Given the description of an element on the screen output the (x, y) to click on. 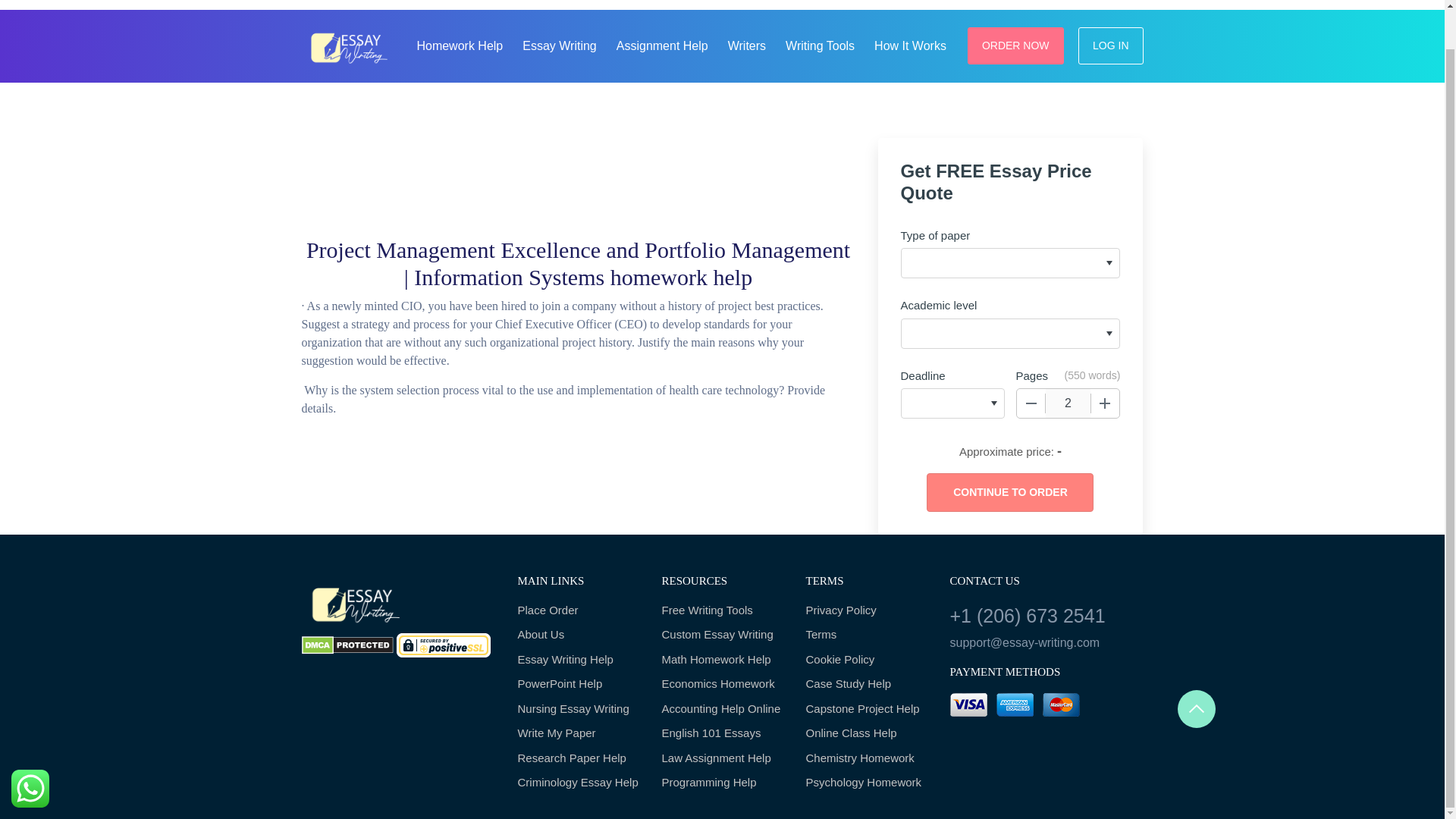
Research Paper Help (577, 758)
Custom Essay Writing (722, 634)
2 (1067, 403)
Continue to order (1009, 492)
How It Works (909, 44)
About Us (577, 634)
Decrease (1030, 403)
Writing Tools (819, 44)
Accounting Help Online (722, 709)
Free Writing Tools (722, 610)
